Given the description of an element on the screen output the (x, y) to click on. 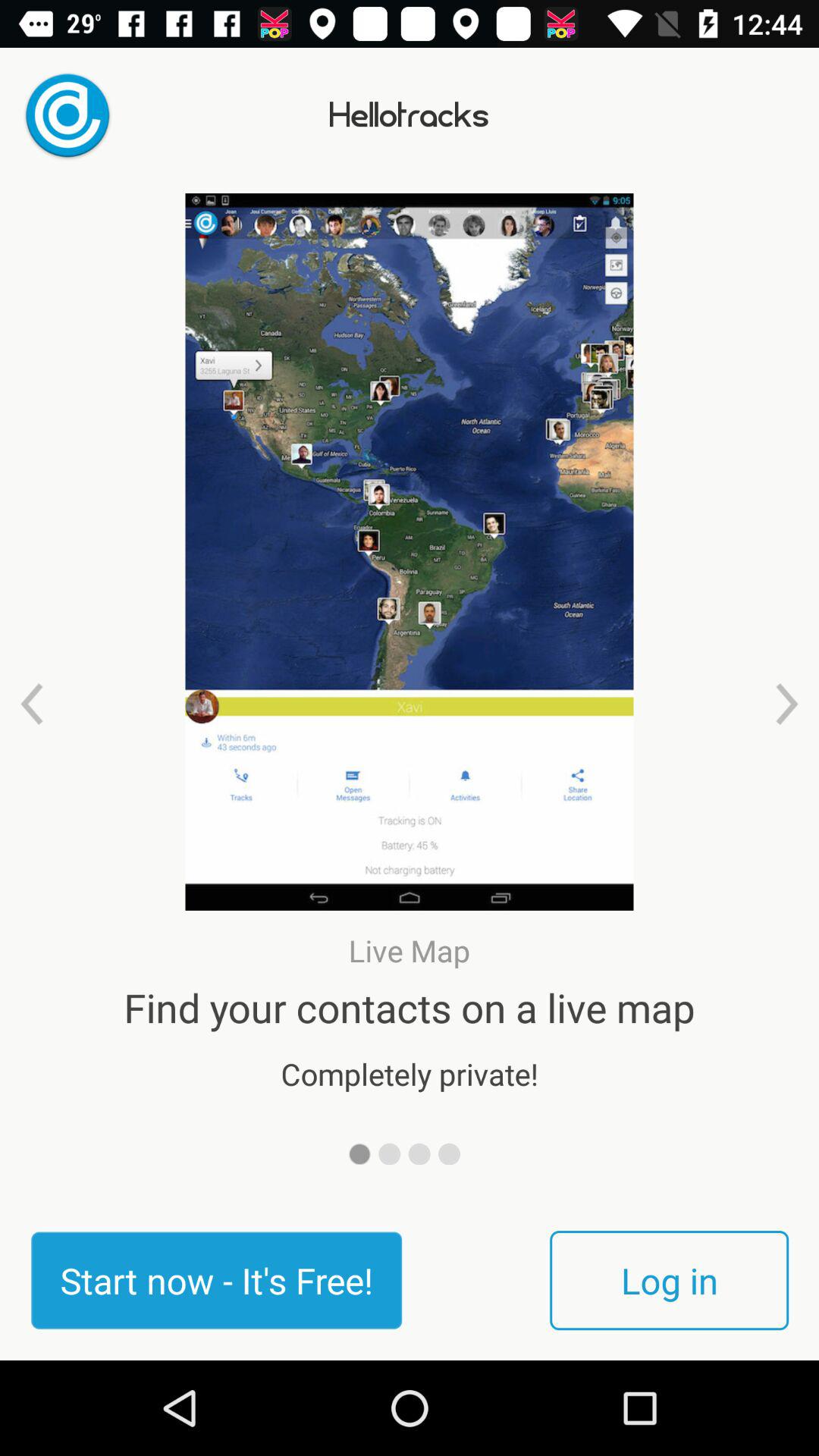
press the start now it (216, 1280)
